Given the description of an element on the screen output the (x, y) to click on. 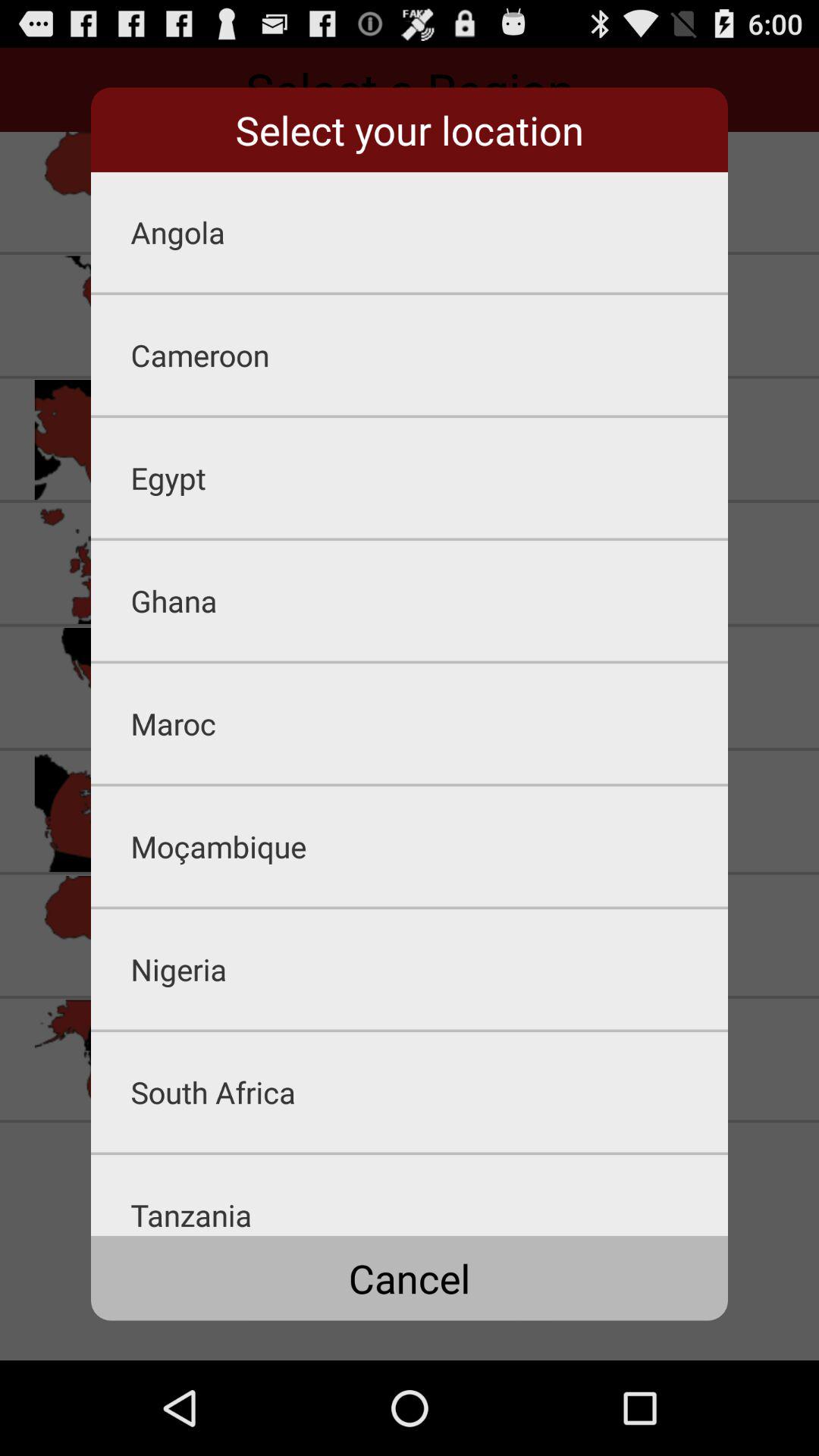
jump to nigeria item (429, 969)
